Given the description of an element on the screen output the (x, y) to click on. 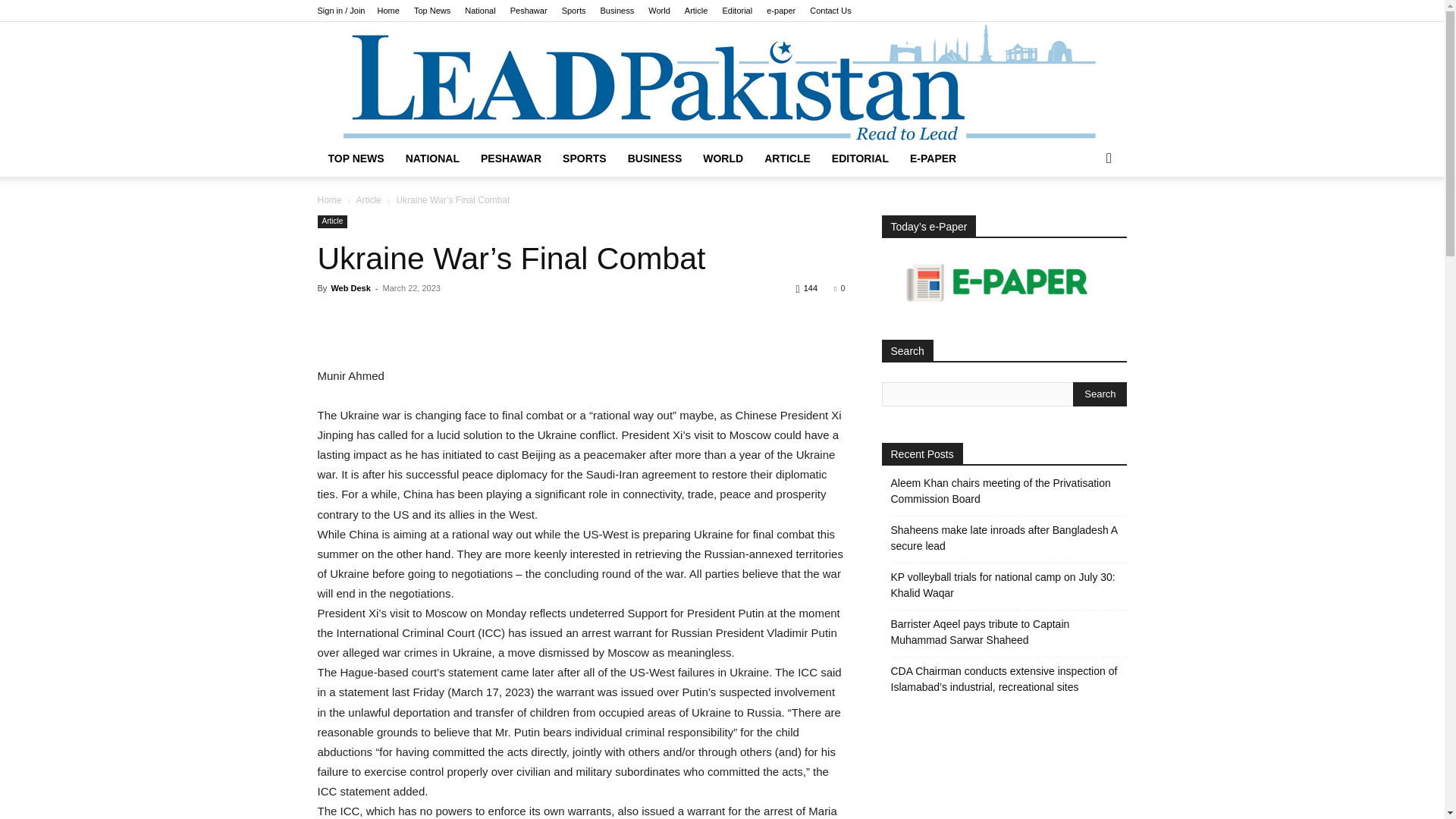
Top News (431, 10)
Search (1099, 394)
PESHAWAR (510, 158)
Business (616, 10)
Article (695, 10)
Sports (574, 10)
e-paper (780, 10)
WORLD (723, 158)
SPORTS (584, 158)
Daily Lead Pakistan (721, 81)
NATIONAL (432, 158)
Home (387, 10)
Editorial (737, 10)
BUSINESS (655, 158)
View all posts in Article (367, 199)
